Given the description of an element on the screen output the (x, y) to click on. 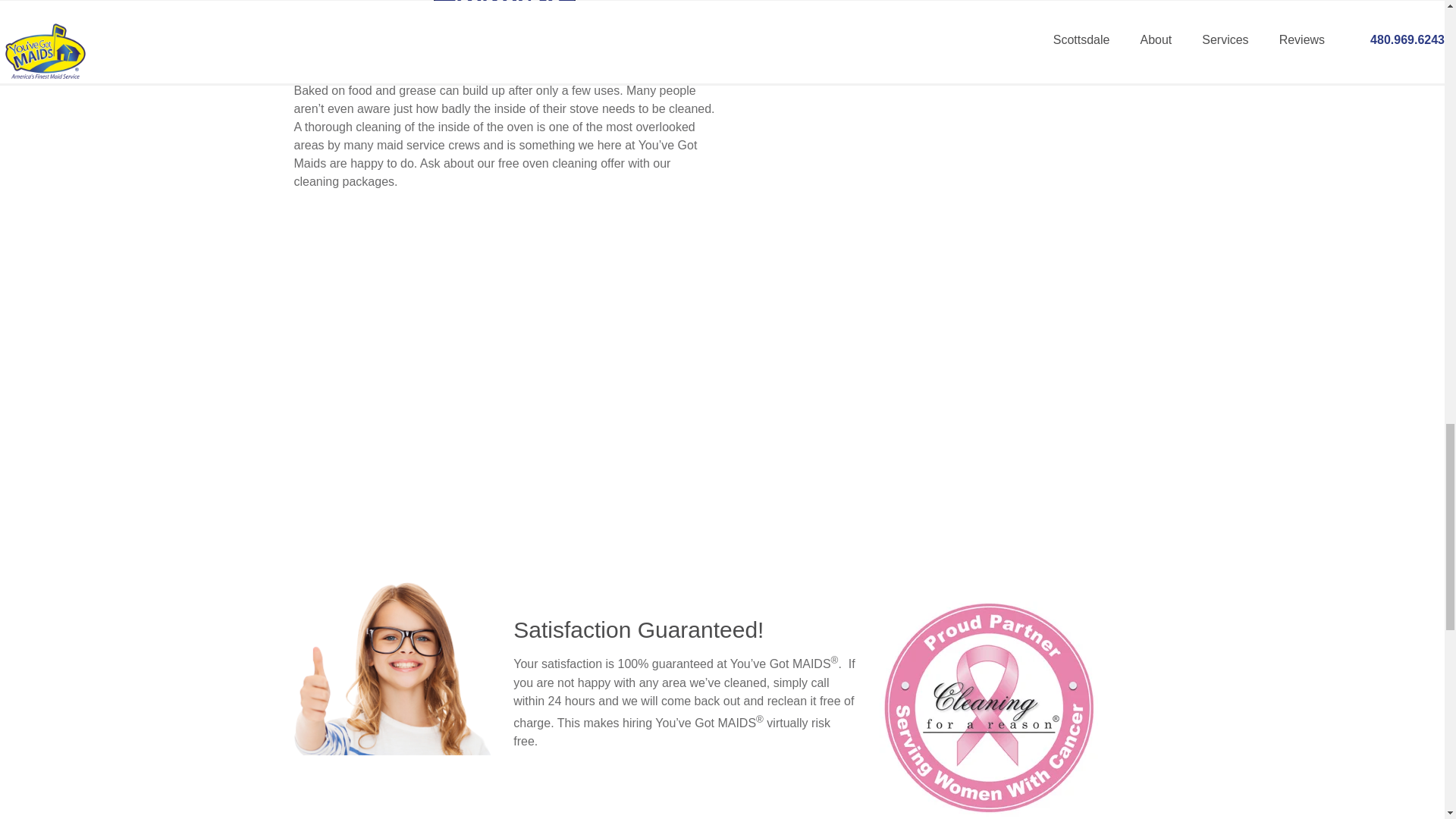
480.969.6243 (504, 7)
C4R - b-4 (988, 710)
thumbs-Up-girl (393, 668)
480.969.6243 (504, 7)
